Given the description of an element on the screen output the (x, y) to click on. 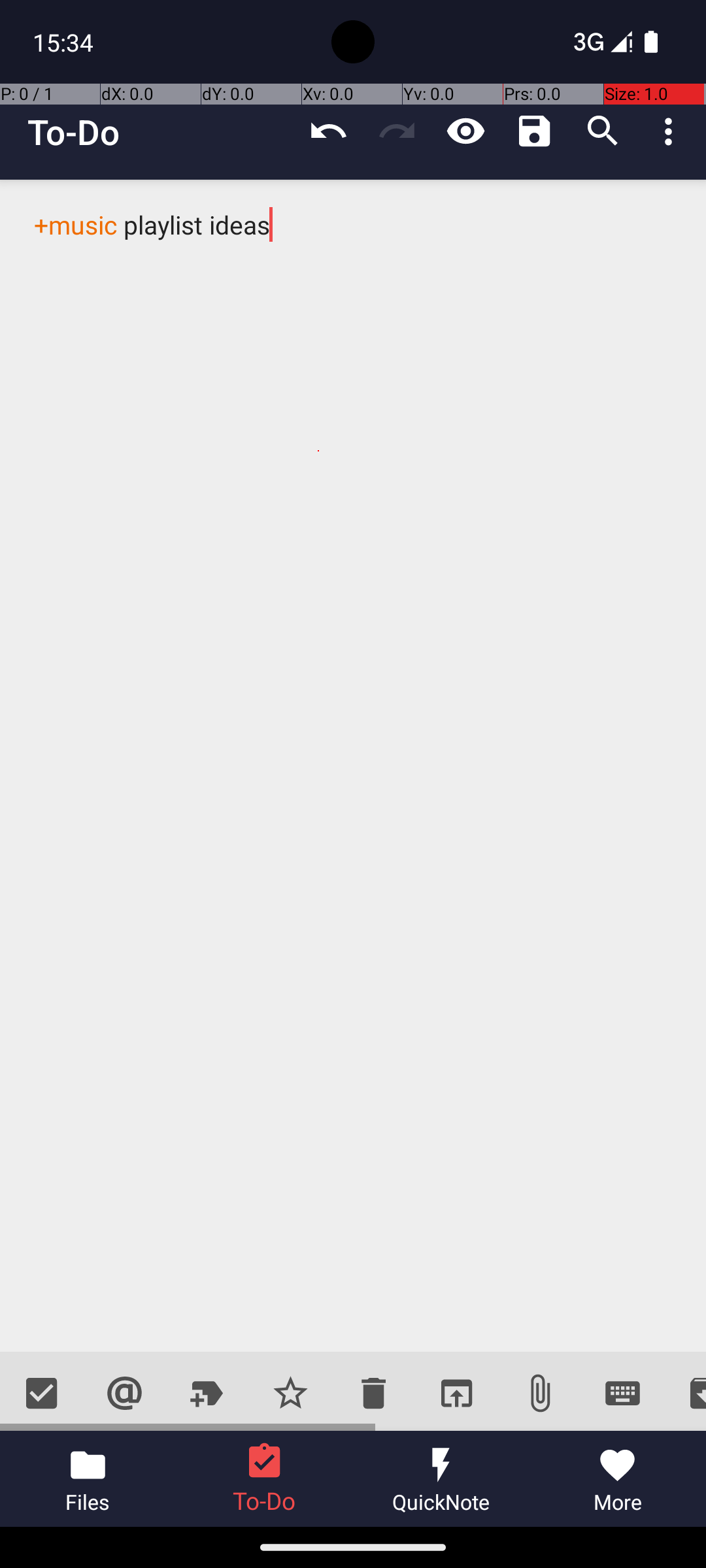
 +music playlist ideas Element type: android.widget.EditText (353, 765)
